Given the description of an element on the screen output the (x, y) to click on. 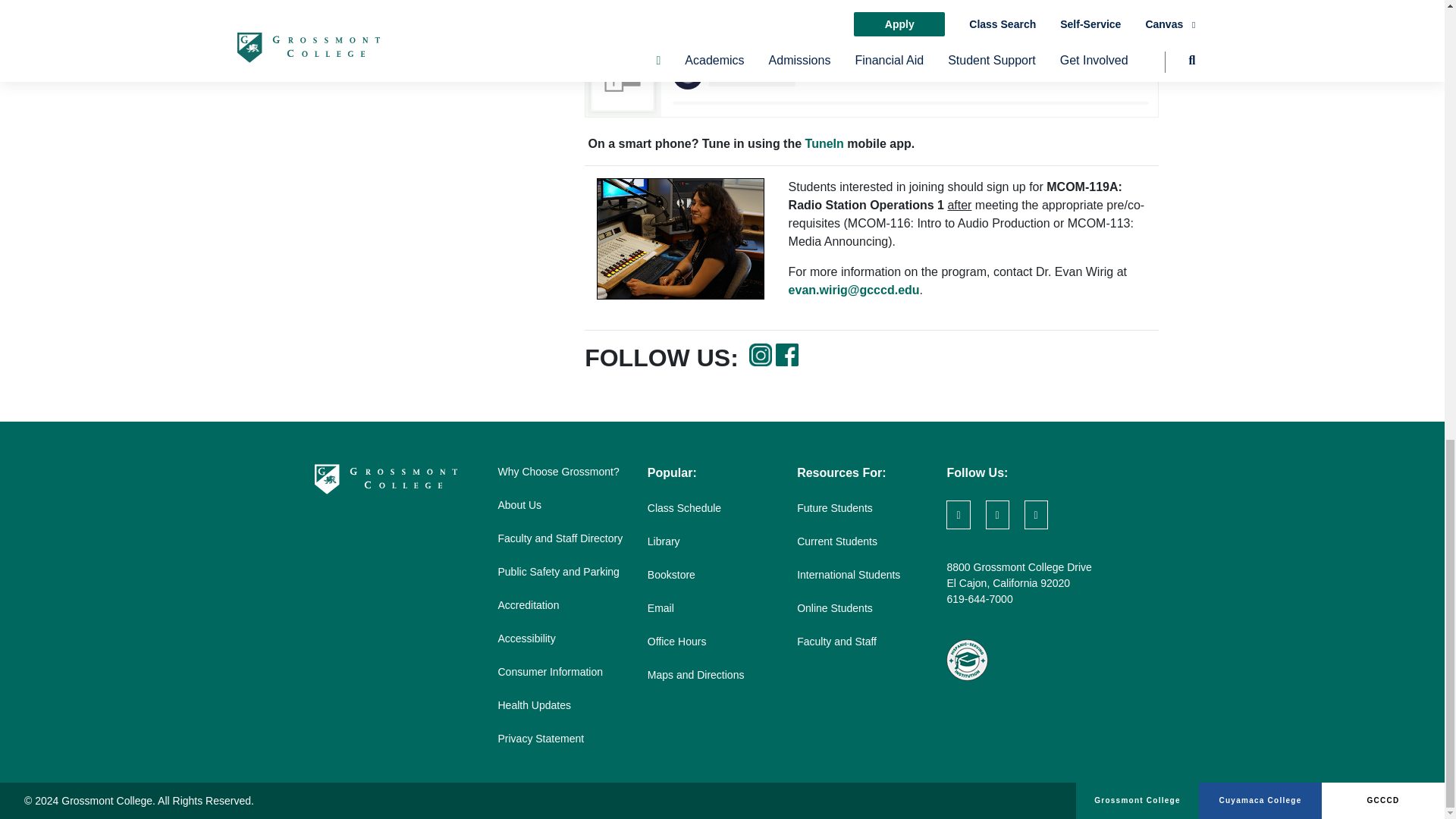
TuneIn (824, 144)
ON TUNEIN (749, 11)
Why Choose Grossmont? (557, 471)
